Given the description of an element on the screen output the (x, y) to click on. 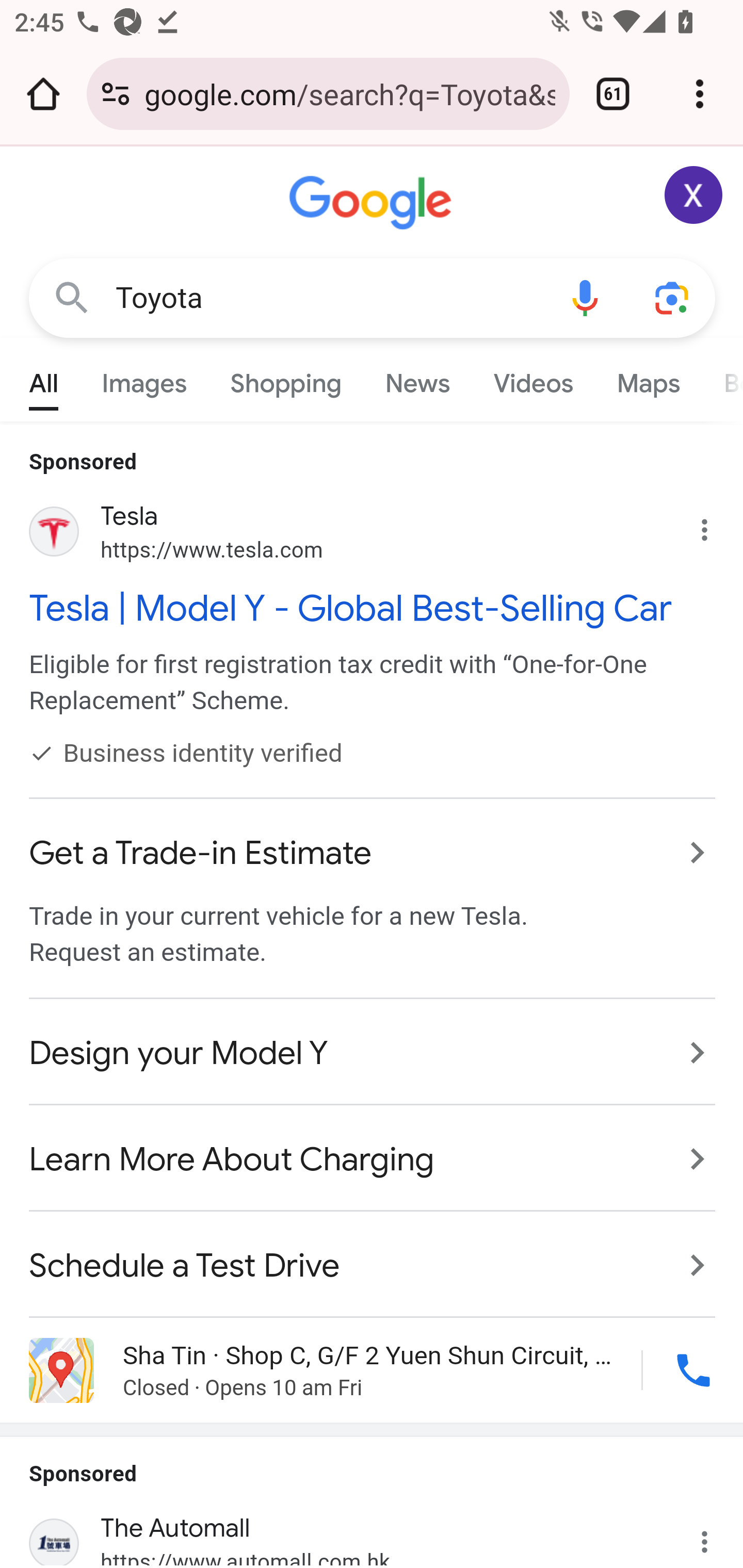
Open the home page (43, 93)
Connection is secure (115, 93)
Switch or close tabs (612, 93)
Customize and control Google Chrome (699, 93)
Google (372, 203)
Google Account: Xiaoran (zxrappiumtest@gmail.com) (694, 195)
Google Search (71, 296)
Search using your camera or photos (672, 296)
Toyota (328, 297)
Images (144, 378)
Shopping (285, 378)
News (417, 378)
Videos (533, 378)
Maps (647, 378)
Why this ad? (714, 525)
Tesla | Model Y - Global Best-Selling Car (372, 608)
Design your Model Y (372, 1053)
Learn More About Charging (372, 1160)
Schedule a Test Drive (372, 1255)
Why this ad? (714, 1531)
